Given the description of an element on the screen output the (x, y) to click on. 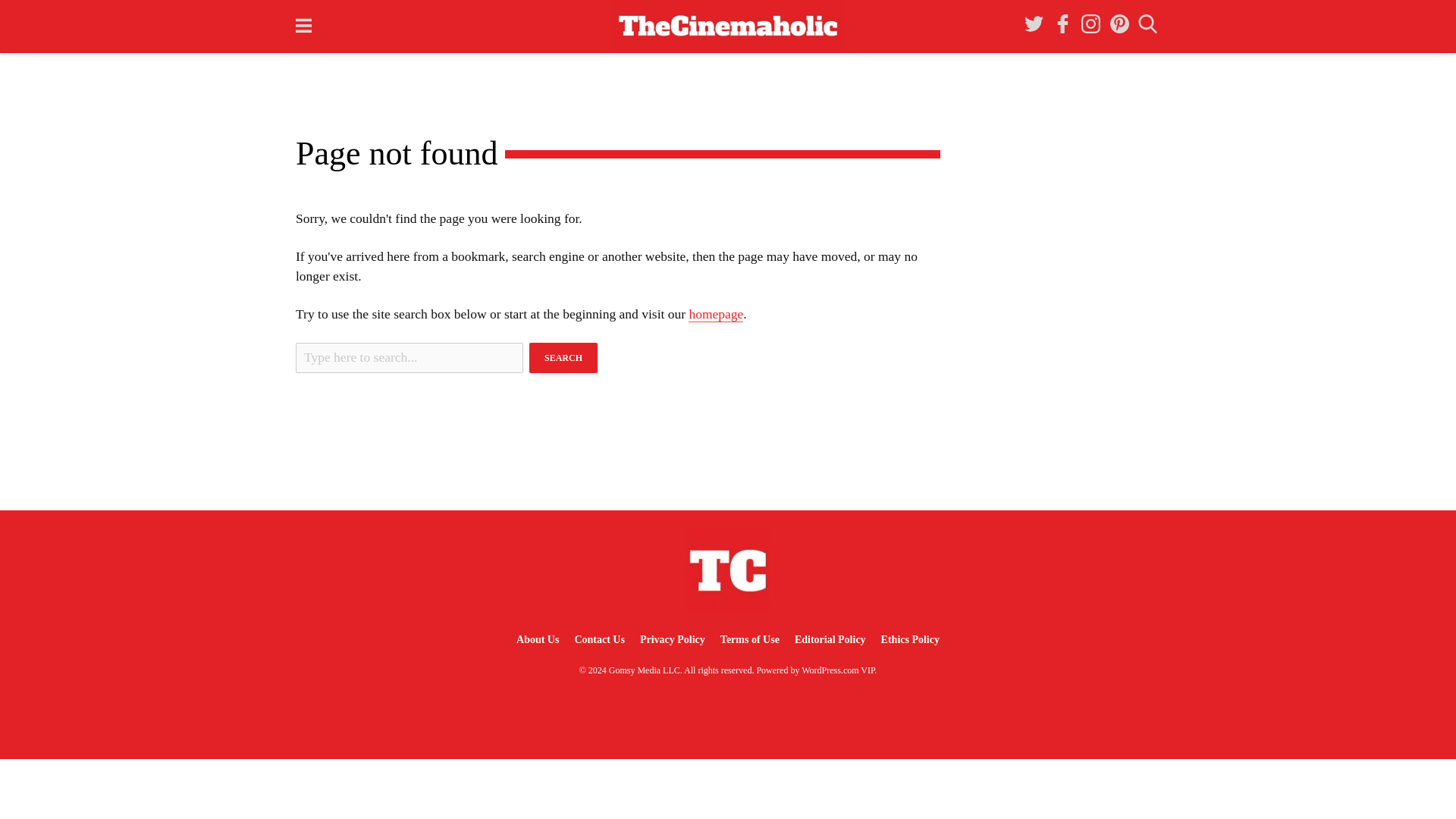
WordPress.com VIP (838, 670)
Terms of Use (750, 639)
homepage (715, 314)
Contact Us (598, 639)
Editorial Policy (830, 639)
SEARCH (562, 358)
About Us (537, 639)
Ethics Policy (910, 639)
Privacy Policy (672, 639)
